Given the description of an element on the screen output the (x, y) to click on. 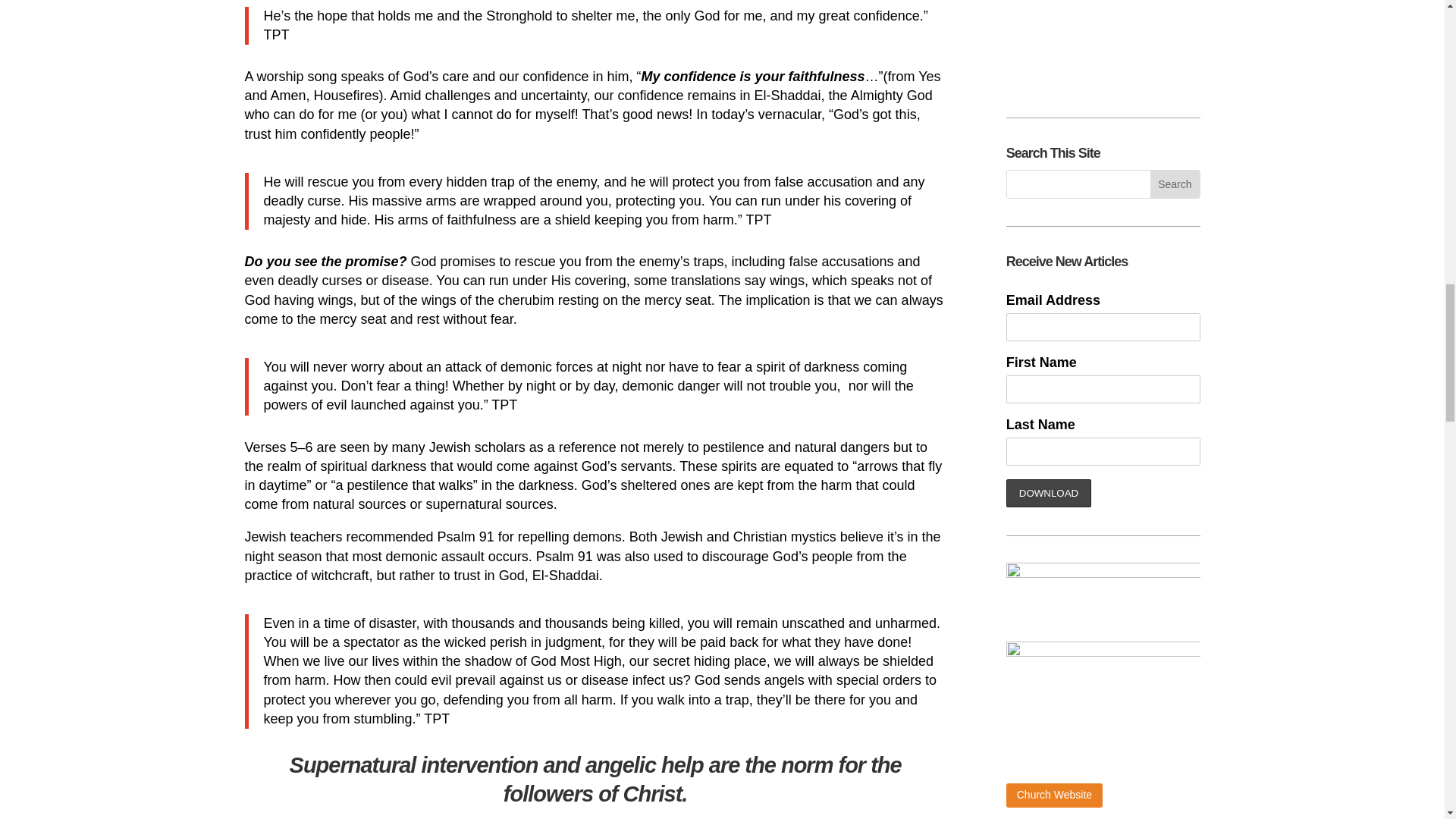
Search (1174, 184)
Search (1174, 184)
BobSignatureYouTubeNew2 (1102, 45)
PCT-3288 (1102, 706)
DOWNLOAD (1049, 492)
DOWNLOAD (1049, 492)
Search (1174, 184)
Church Website (1054, 794)
Acts 12 (419, 818)
Passion Church logo-01 (1102, 595)
